Given the description of an element on the screen output the (x, y) to click on. 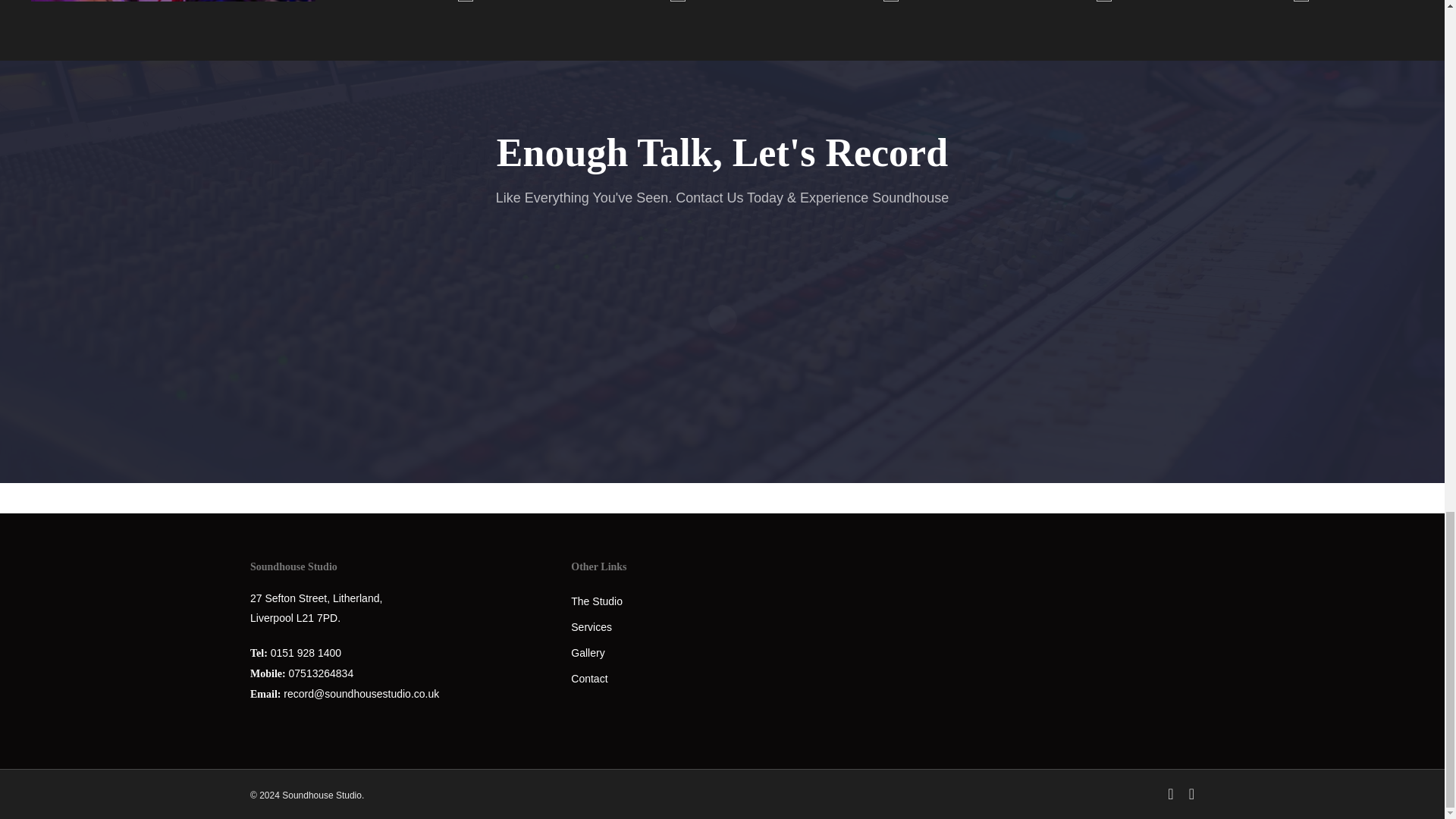
Contact (588, 678)
Gallery (587, 653)
The Studio (596, 601)
Services (590, 626)
PHOTO-2022-02-15-20-59-25 16 (677, 0)
PHOTO-2022-02-15-20-59-25 12 (1104, 0)
WhatsApp Image 2022-08-15 at 4.31.30 PM (1445, 0)
